Given the description of an element on the screen output the (x, y) to click on. 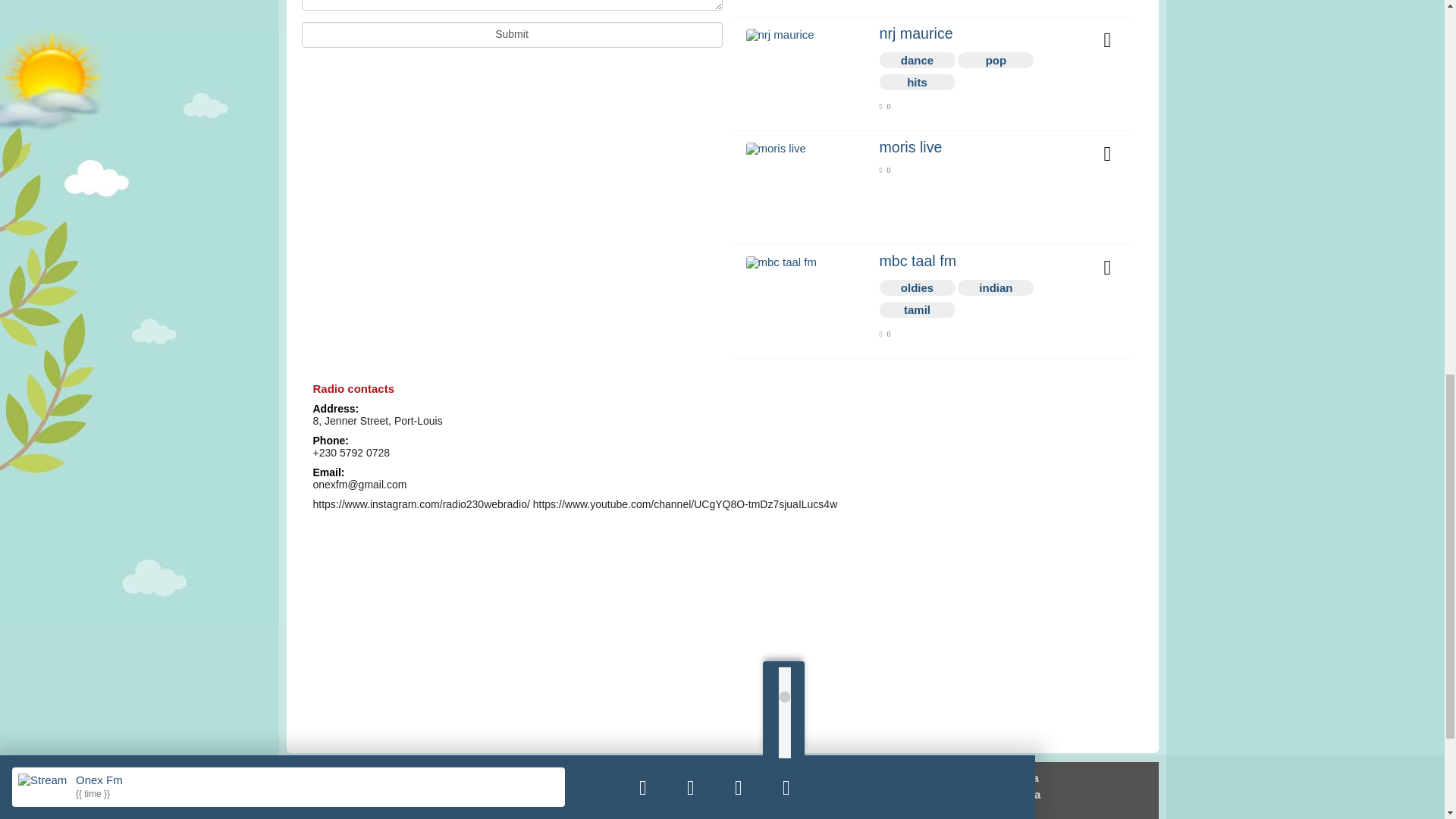
moris live (981, 147)
tamil (917, 309)
oldies (917, 287)
mbc taal fm (981, 261)
nrj maurice (981, 33)
Submit (511, 34)
pop (996, 59)
Submit (511, 34)
hits (916, 82)
dance (917, 59)
